Given the description of an element on the screen output the (x, y) to click on. 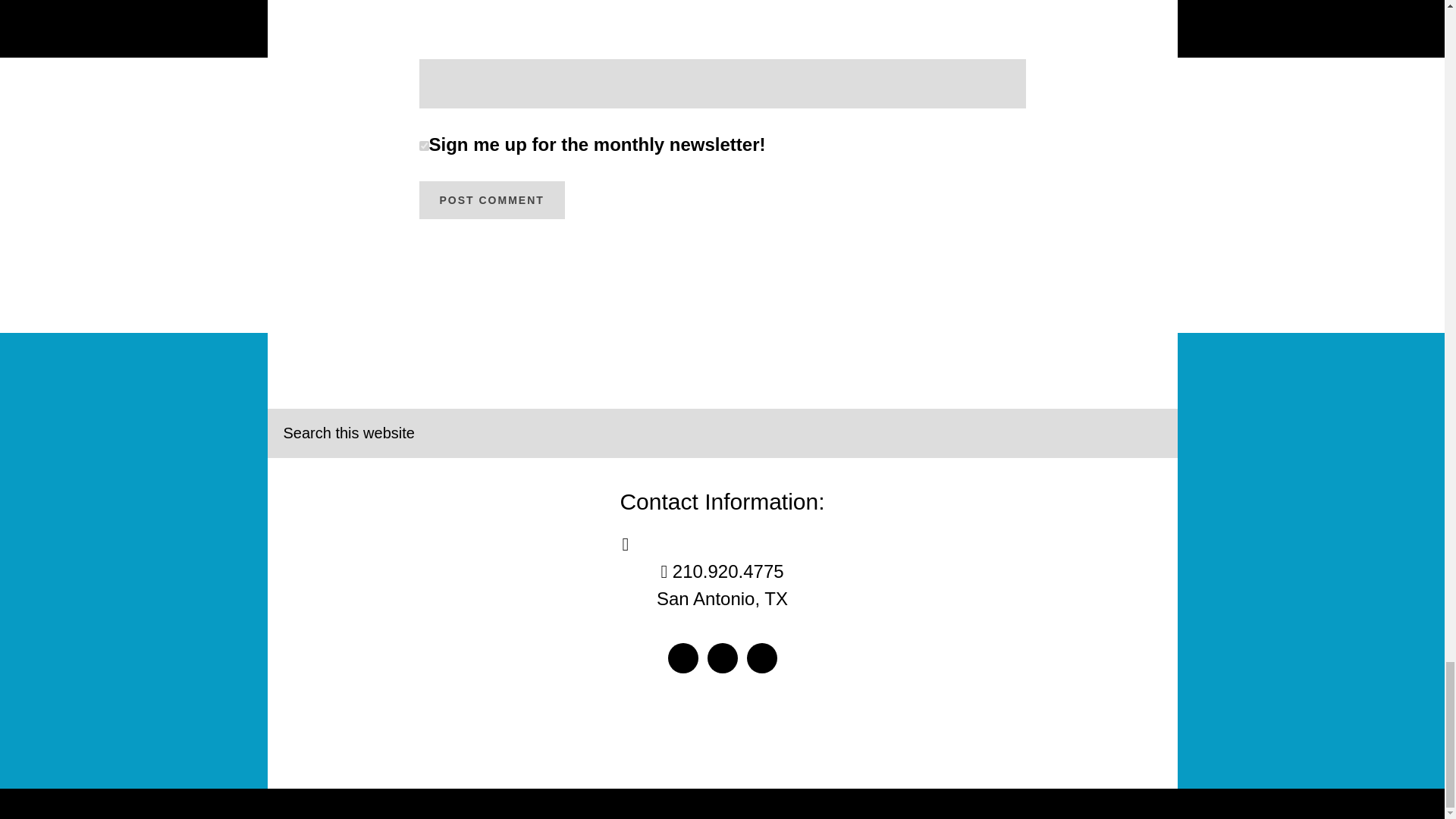
1 (423, 145)
Post Comment (491, 199)
Post Comment (491, 199)
